Given the description of an element on the screen output the (x, y) to click on. 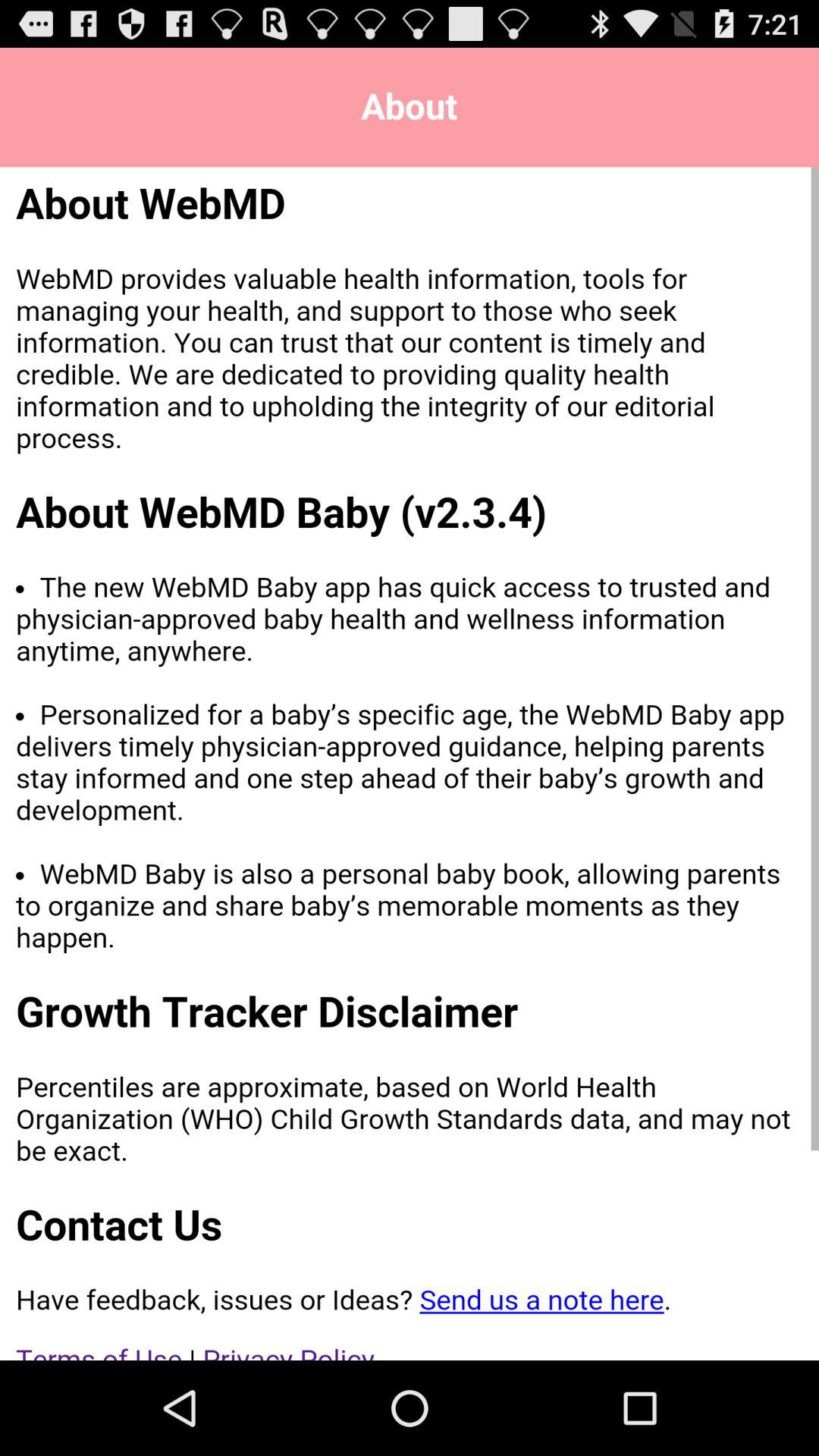
seeing in the parargraph (409, 763)
